Given the description of an element on the screen output the (x, y) to click on. 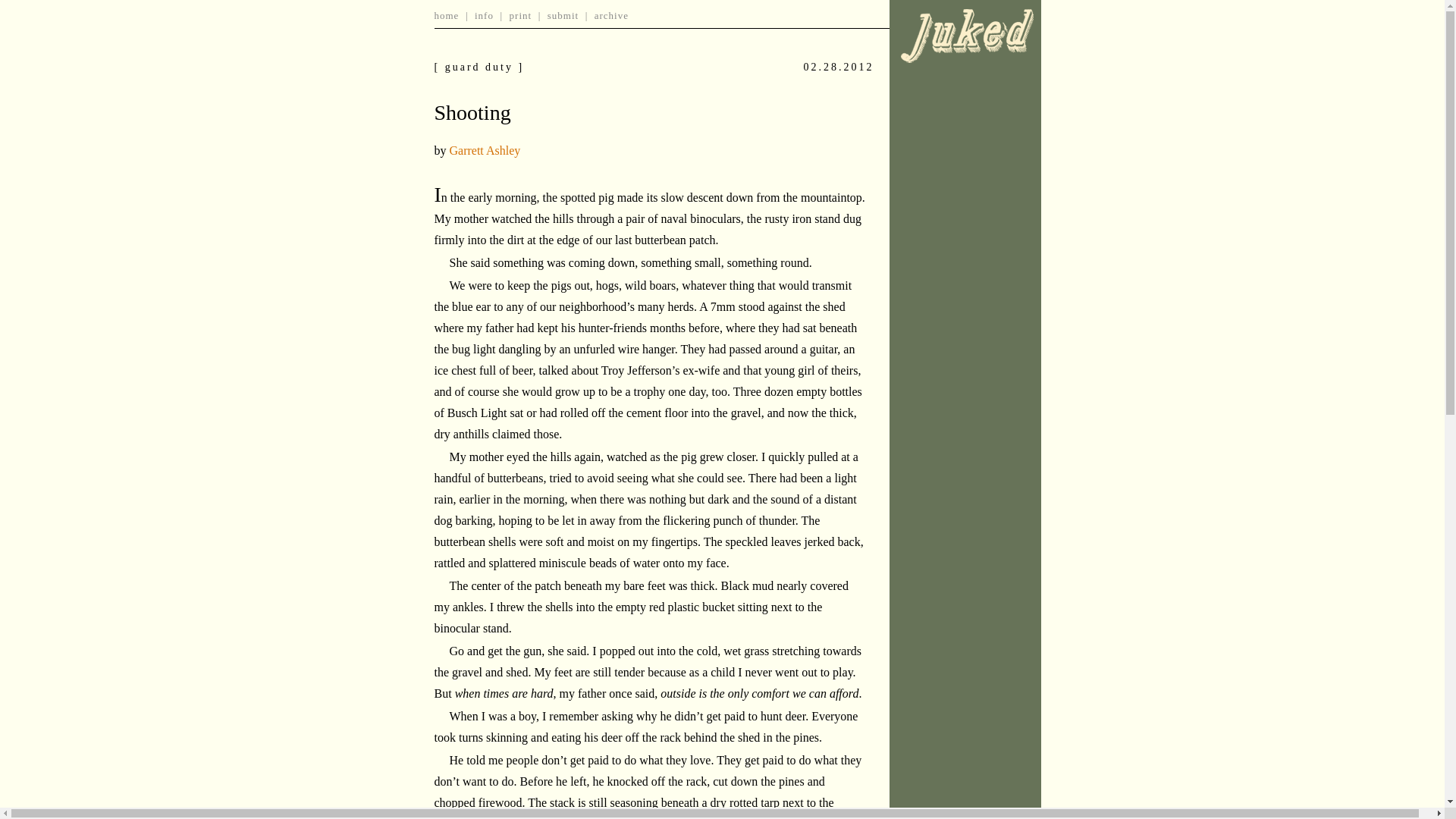
submit (562, 15)
home (445, 15)
archive (611, 15)
info (483, 15)
print (520, 15)
Garrett Ashley (483, 150)
